Given the description of an element on the screen output the (x, y) to click on. 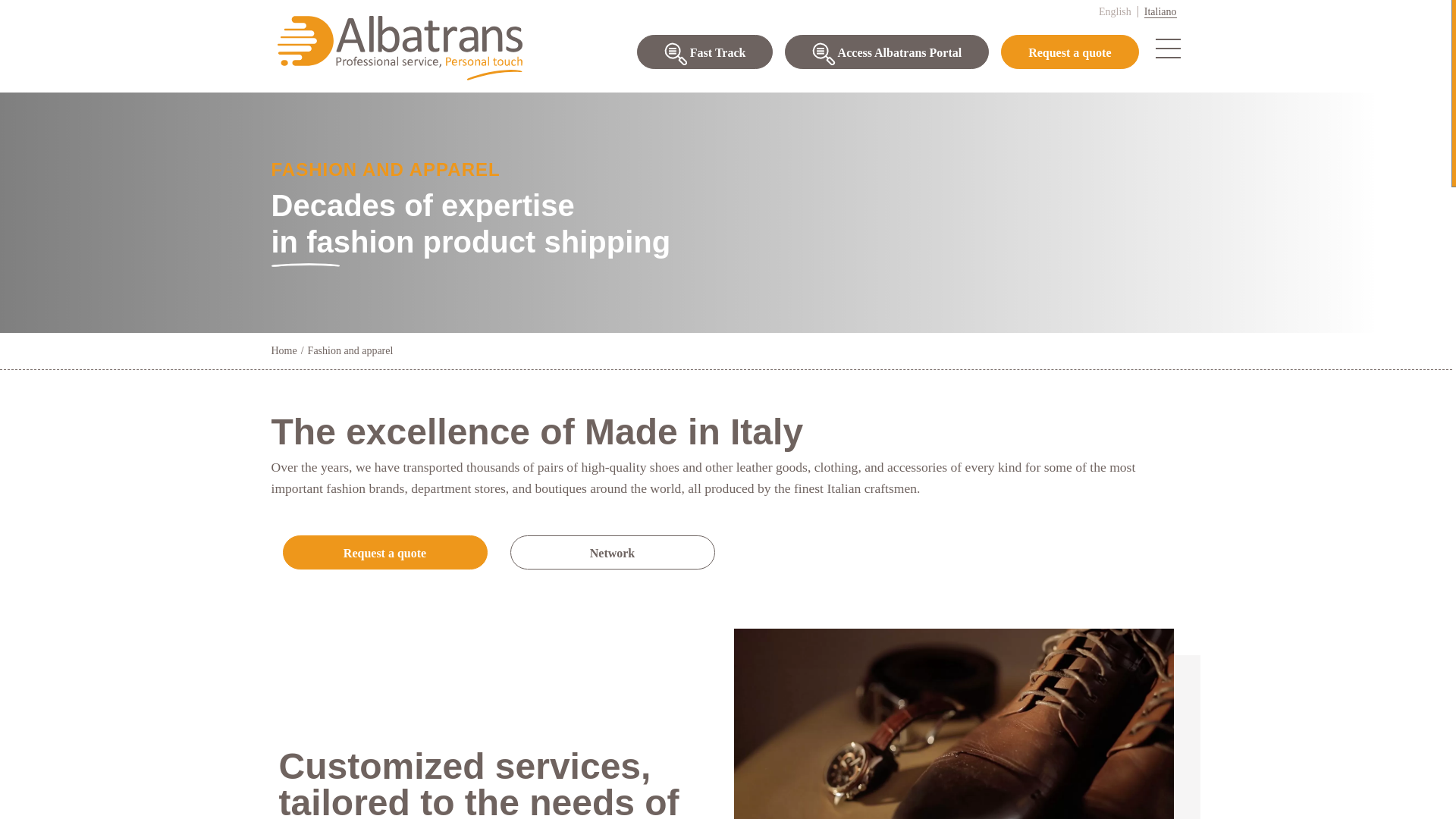
Fast Track (705, 51)
Home (283, 350)
English (1115, 11)
Italiano (1160, 11)
Access Albatrans Portal (886, 51)
Request a quote (1069, 51)
